Given the description of an element on the screen output the (x, y) to click on. 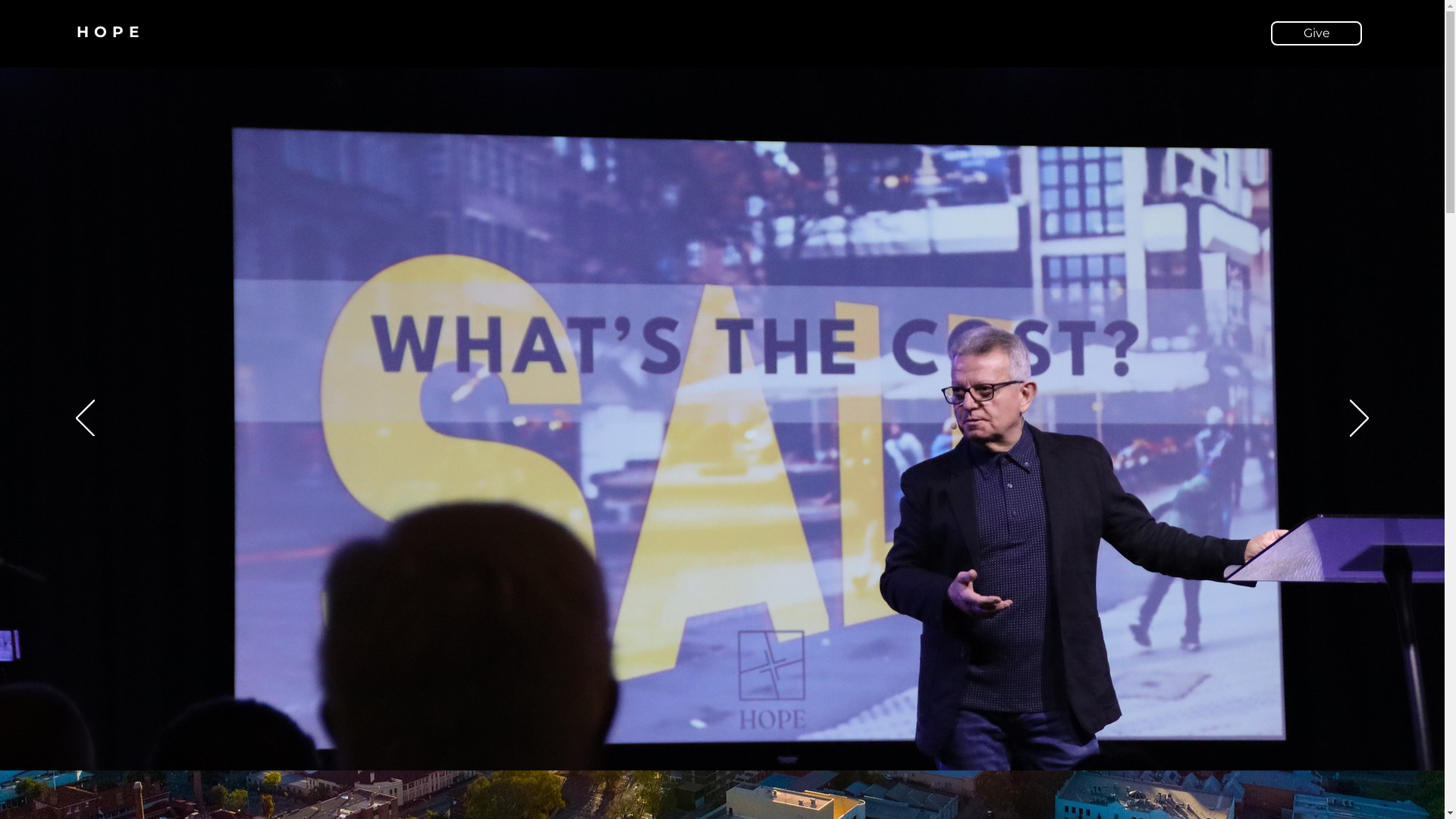
Give Element type: text (1315, 33)
HOPE Element type: text (110, 31)
